Given the description of an element on the screen output the (x, y) to click on. 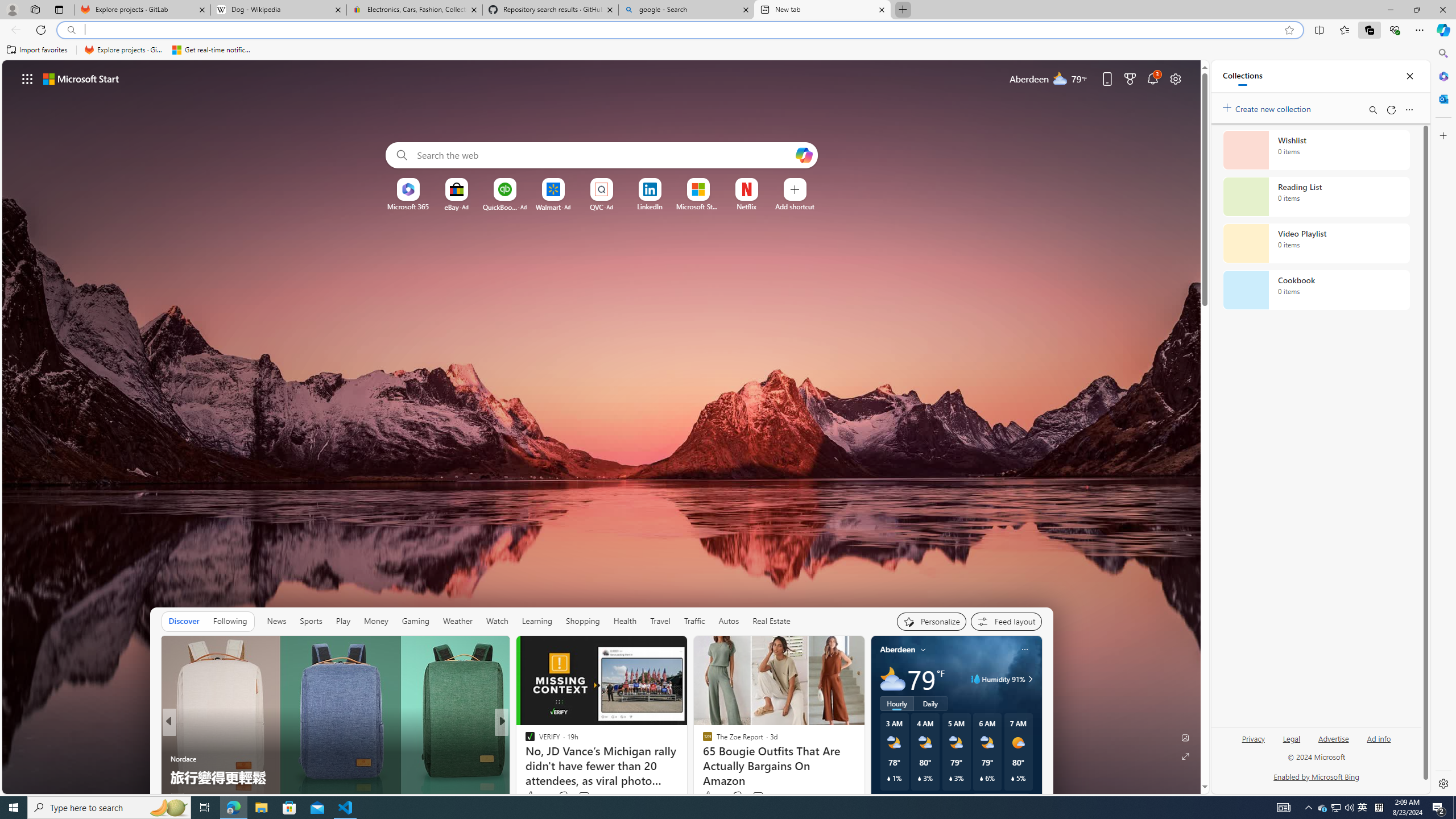
62 Like (712, 795)
View comments 17 Comment (580, 797)
View comments 38 Comment (576, 797)
View comments 180 Comment (580, 797)
View comments 12 Comment (582, 796)
Netflix (746, 206)
Ad info (1378, 738)
Edit Background (1185, 737)
